Given the description of an element on the screen output the (x, y) to click on. 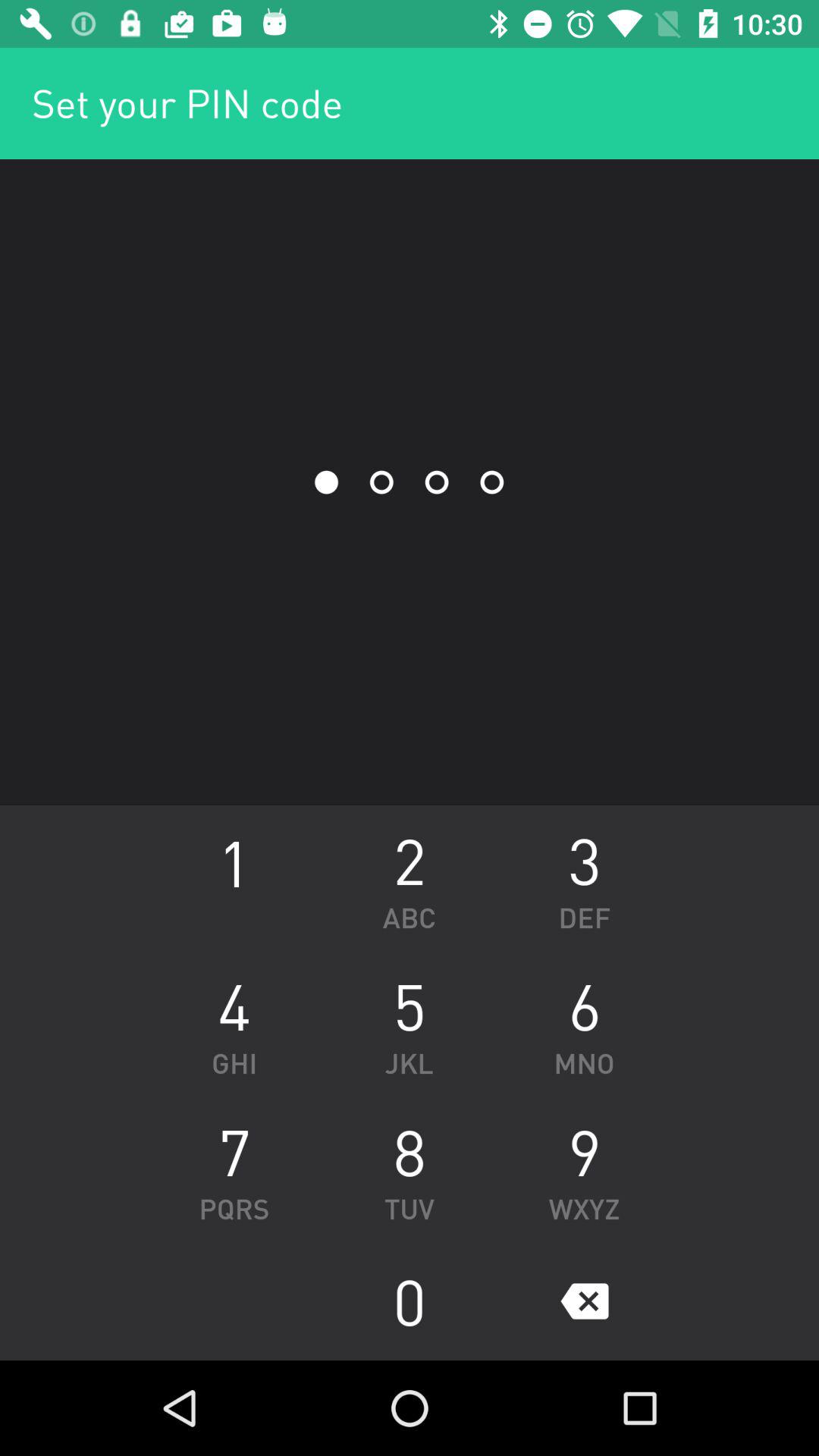
choose the icon next to the abc icon (233, 877)
